Given the description of an element on the screen output the (x, y) to click on. 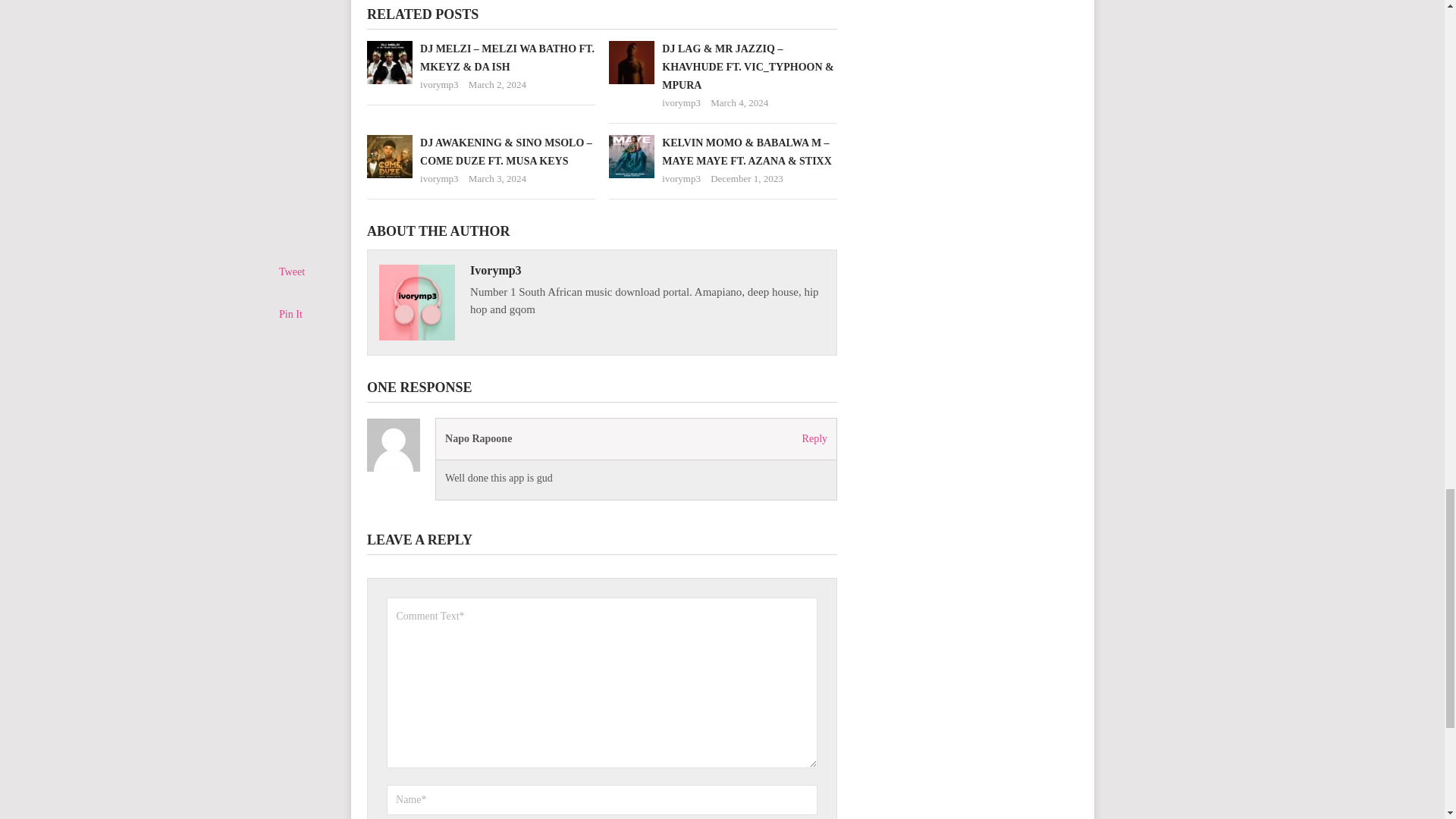
Posts by ivorymp3 (439, 84)
